Given the description of an element on the screen output the (x, y) to click on. 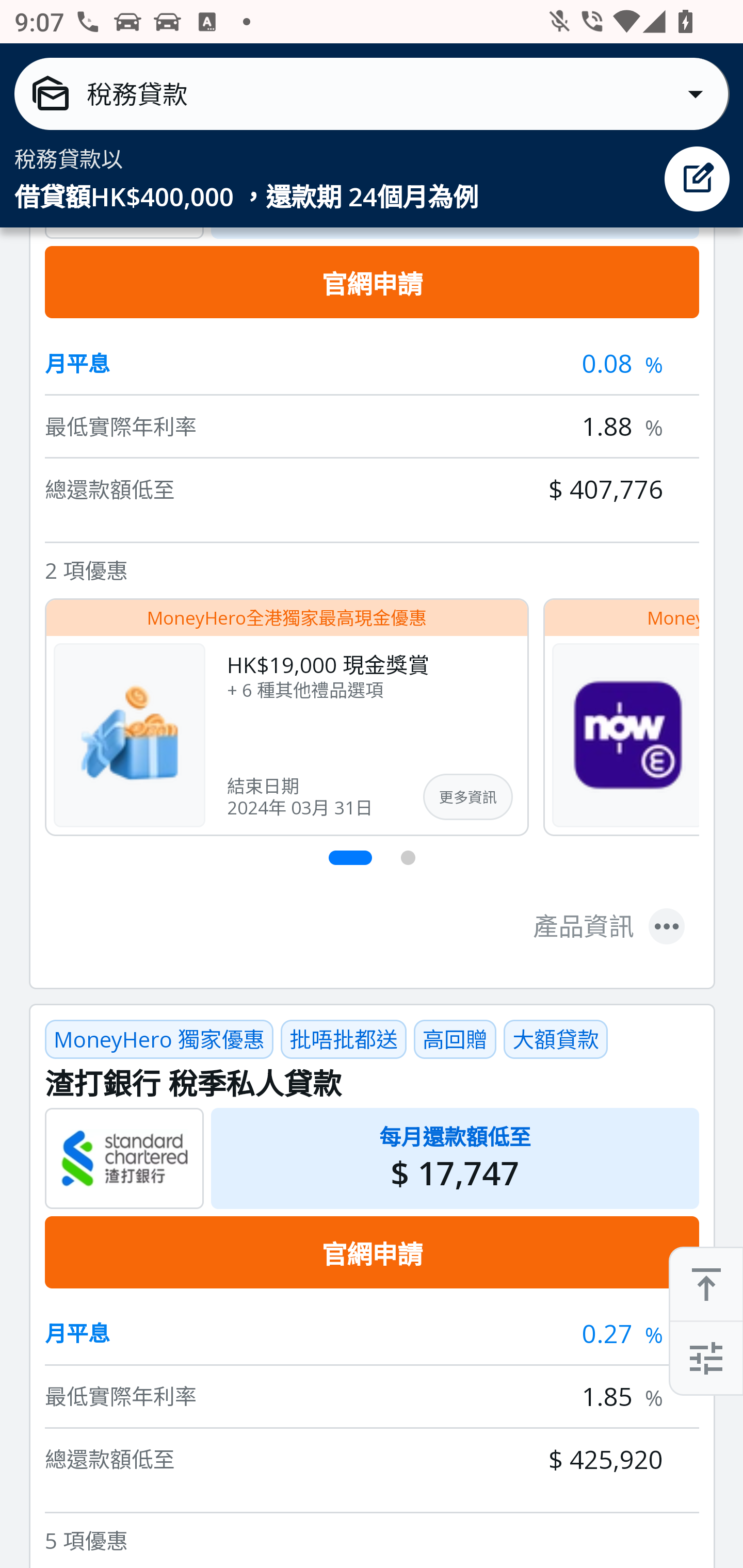
官網申請 (371, 283)
更多資訊 (467, 797)
Go to slide 1 (350, 858)
Go to slide 2 (408, 858)
產品資訊 more_horiz (609, 926)
官網申請 (371, 1253)
